Given the description of an element on the screen output the (x, y) to click on. 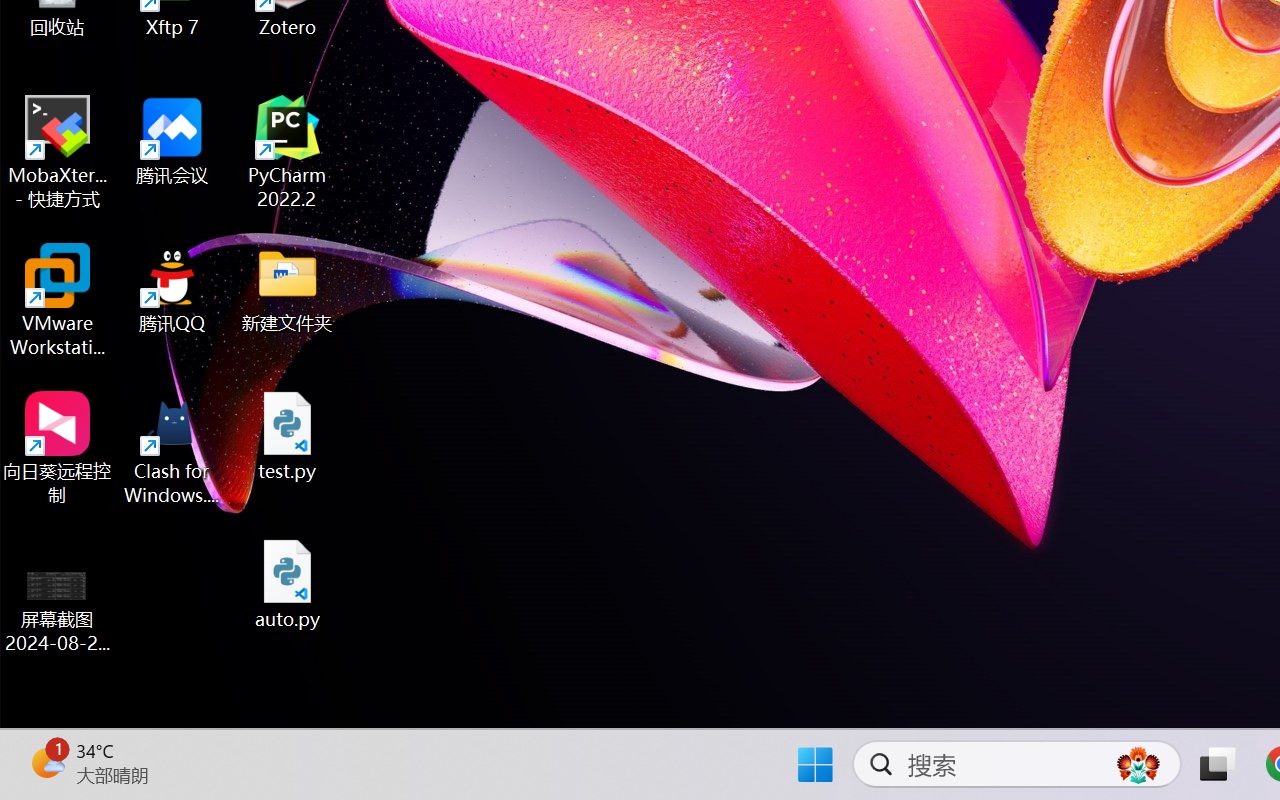
test.py (287, 436)
auto.py (287, 584)
